Given the description of an element on the screen output the (x, y) to click on. 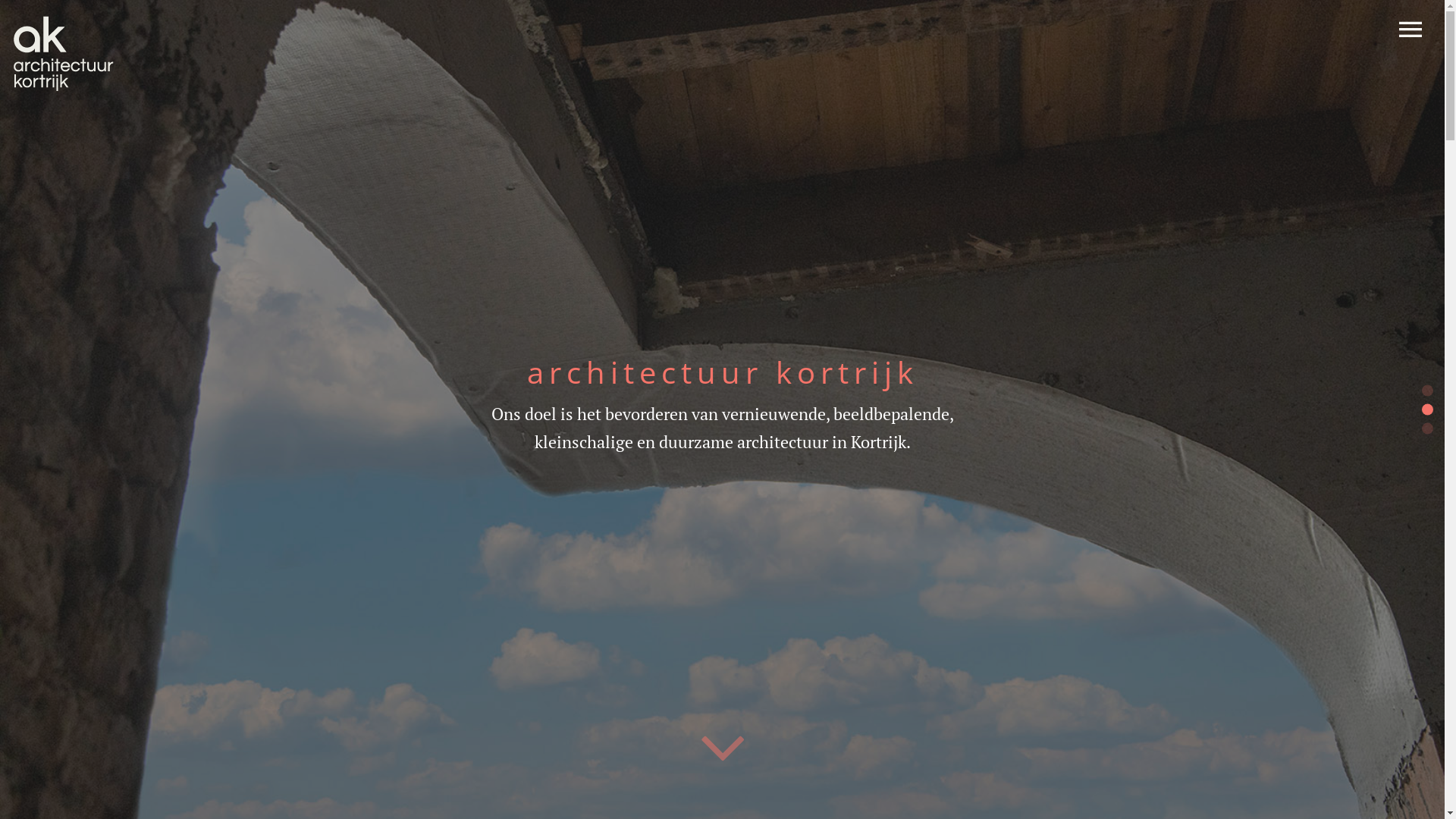
lees meer Element type: text (722, 454)
